Given the description of an element on the screen output the (x, y) to click on. 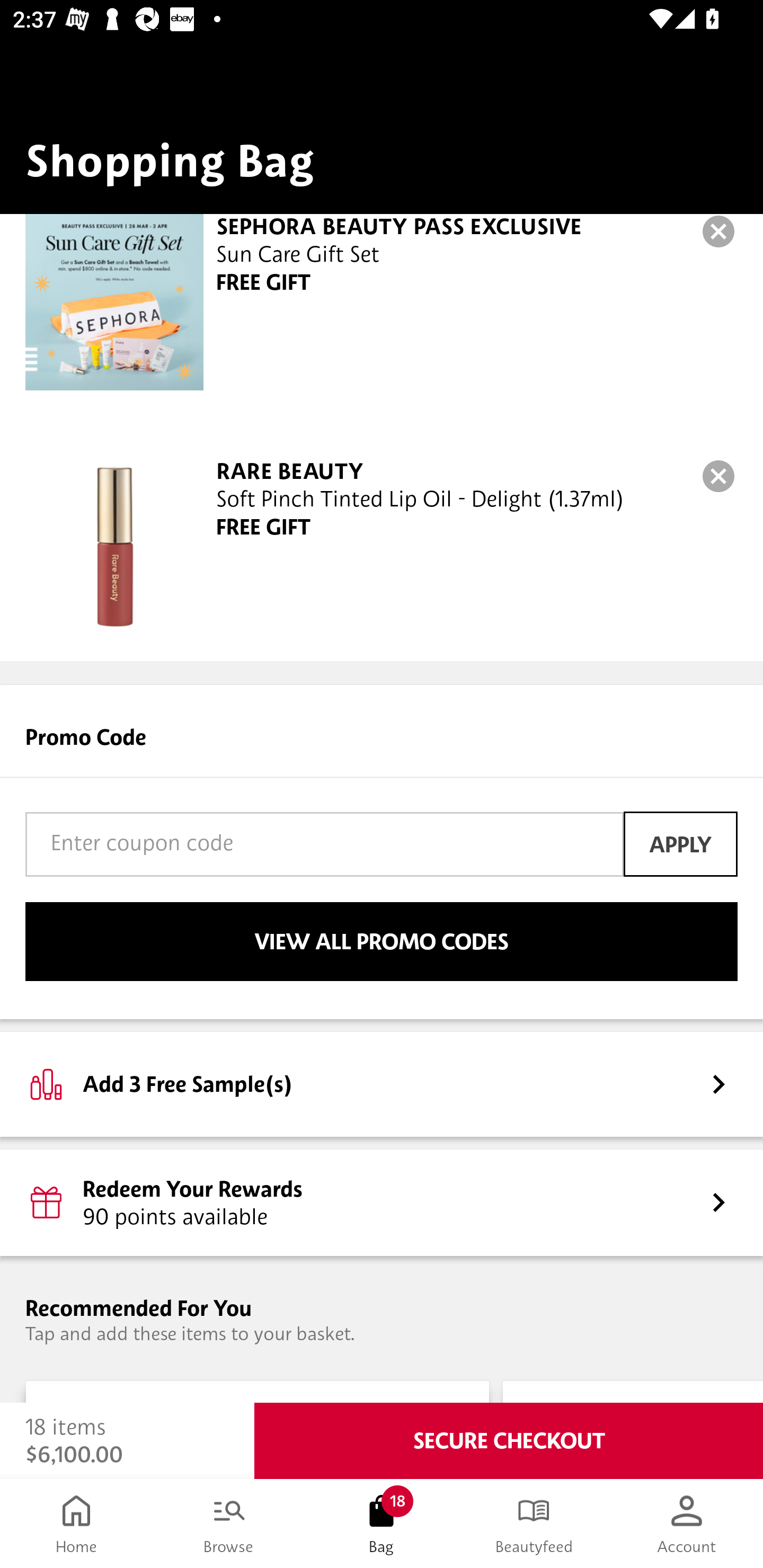
APPLY (680, 844)
Enter coupon code (324, 844)
VIEW ALL PROMO CODES (381, 941)
Add 3 Free Sample(s) (381, 1083)
Redeem Your Rewards 90 points available (381, 1202)
SECURE CHECKOUT (508, 1440)
Home (76, 1523)
Browse (228, 1523)
Beautyfeed (533, 1523)
Account (686, 1523)
